Given the description of an element on the screen output the (x, y) to click on. 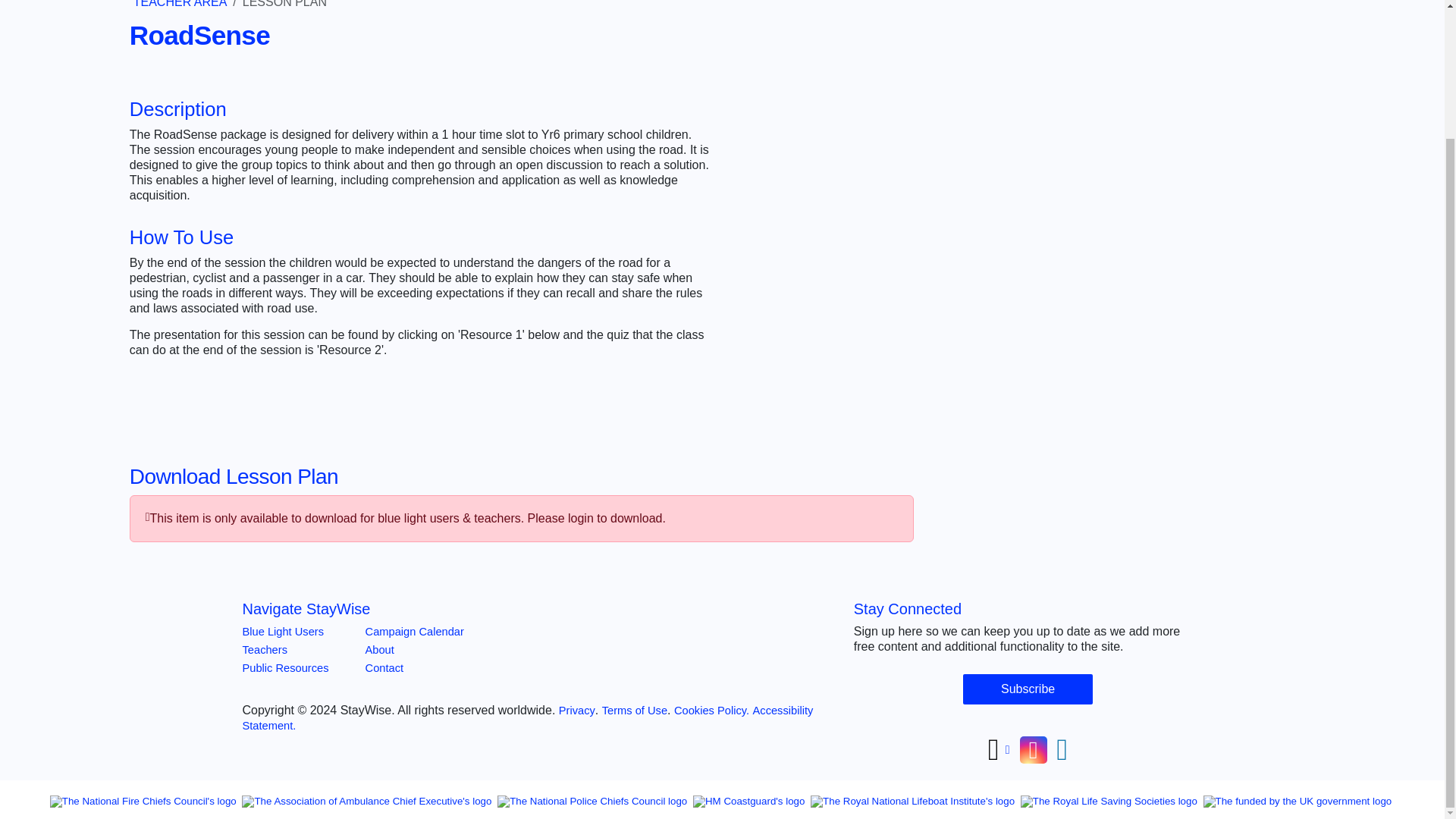
Campaign Calendar (414, 631)
Cookies Policy. (711, 710)
Privacy (577, 710)
Contact (384, 667)
Teachers (264, 649)
Accessibility Statement. (528, 718)
Subscribe (1027, 688)
TEACHER AREA (180, 4)
About (379, 649)
Terms of Use (634, 710)
